Given the description of an element on the screen output the (x, y) to click on. 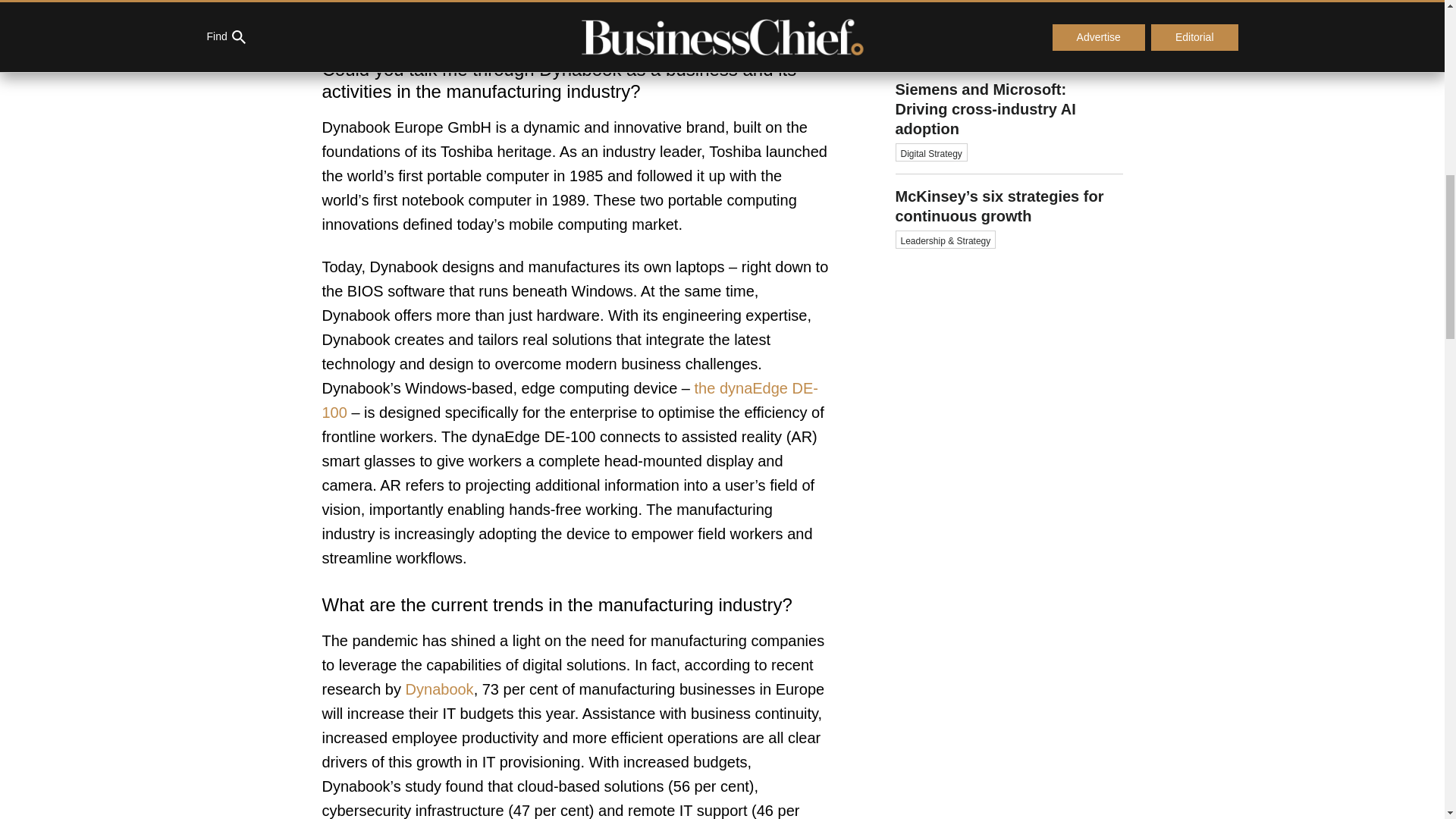
Dynabook (440, 688)
the dynaEdge DE-100 (568, 400)
